Given the description of an element on the screen output the (x, y) to click on. 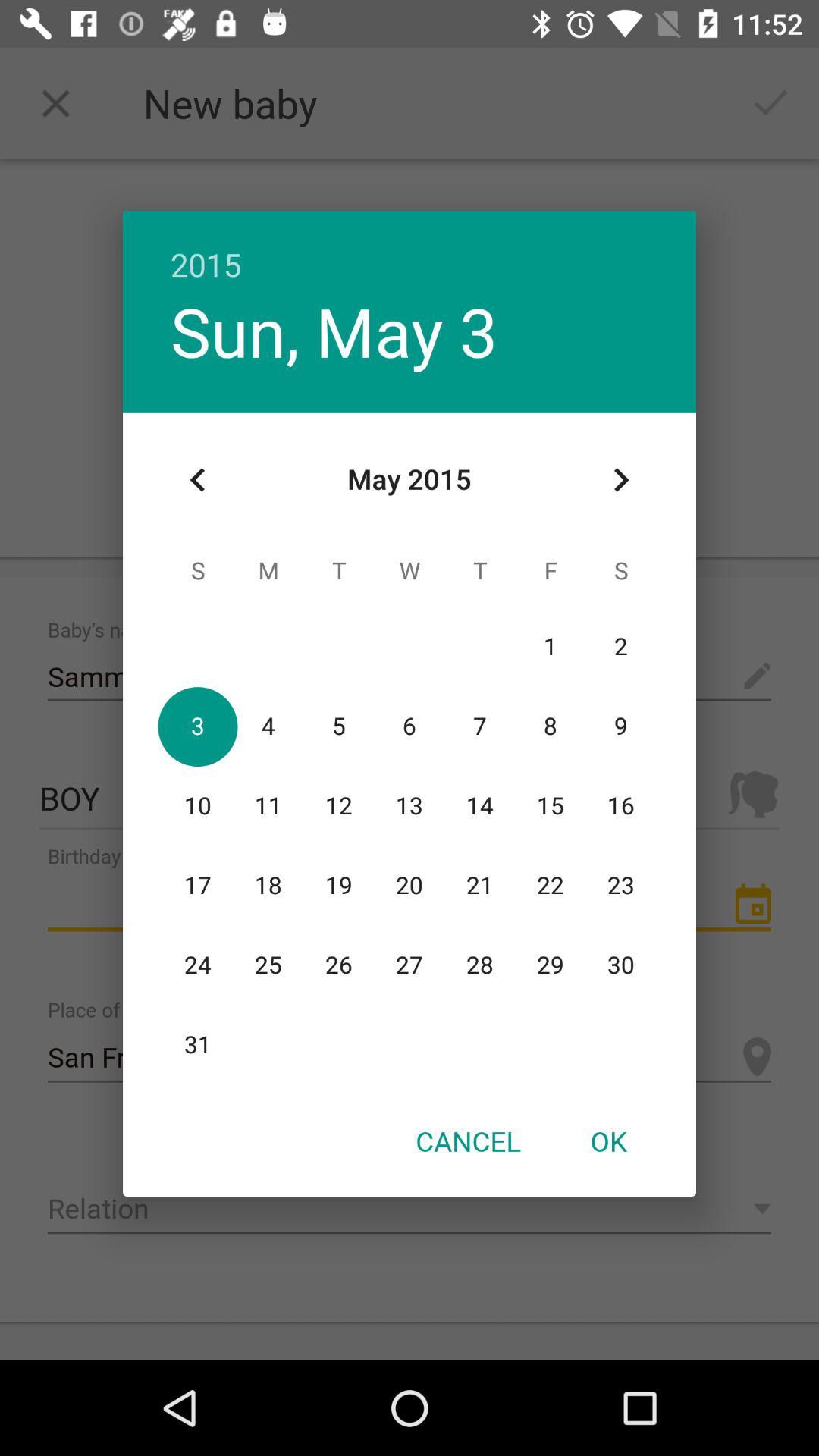
launch the ok (608, 1140)
